Given the description of an element on the screen output the (x, y) to click on. 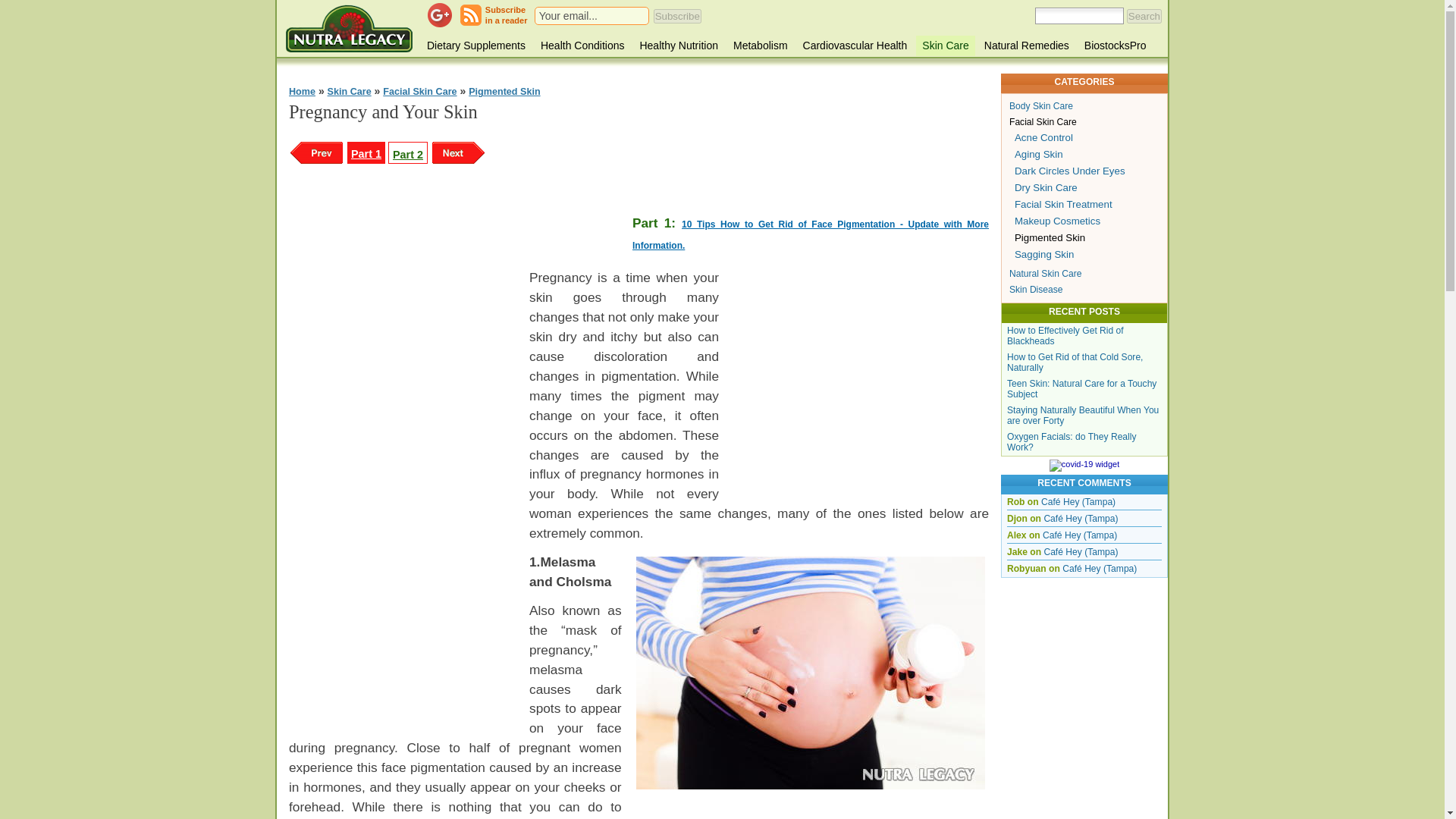
View all posts filed under  (678, 46)
Subscribe (677, 16)
View all posts filed under  (855, 46)
Pregnancy and Your Skin (810, 675)
Your email... (590, 15)
View all posts filed under  (475, 46)
Subscribe (677, 16)
View all posts filed under  (505, 14)
Healthy Nutrition (944, 46)
Metabolism (678, 46)
View all posts filed under  (759, 46)
Nutritional Supplements (1026, 46)
Search (348, 28)
